Given the description of an element on the screen output the (x, y) to click on. 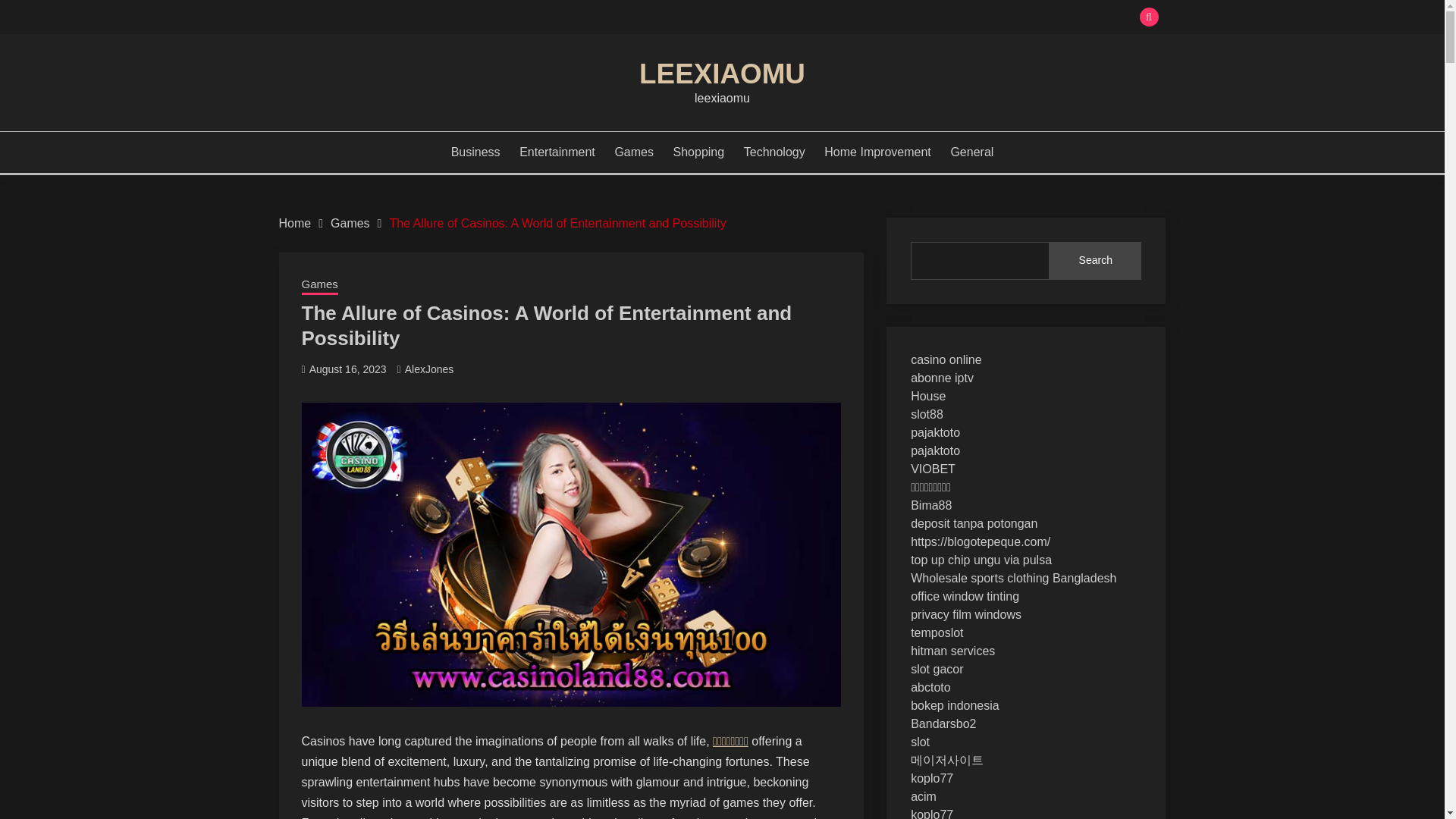
General (971, 152)
abonne iptv (942, 377)
Home (295, 223)
Search (1095, 260)
Games (319, 285)
Games (349, 223)
casino online (946, 359)
Games (633, 152)
pajaktoto (935, 431)
